Given the description of an element on the screen output the (x, y) to click on. 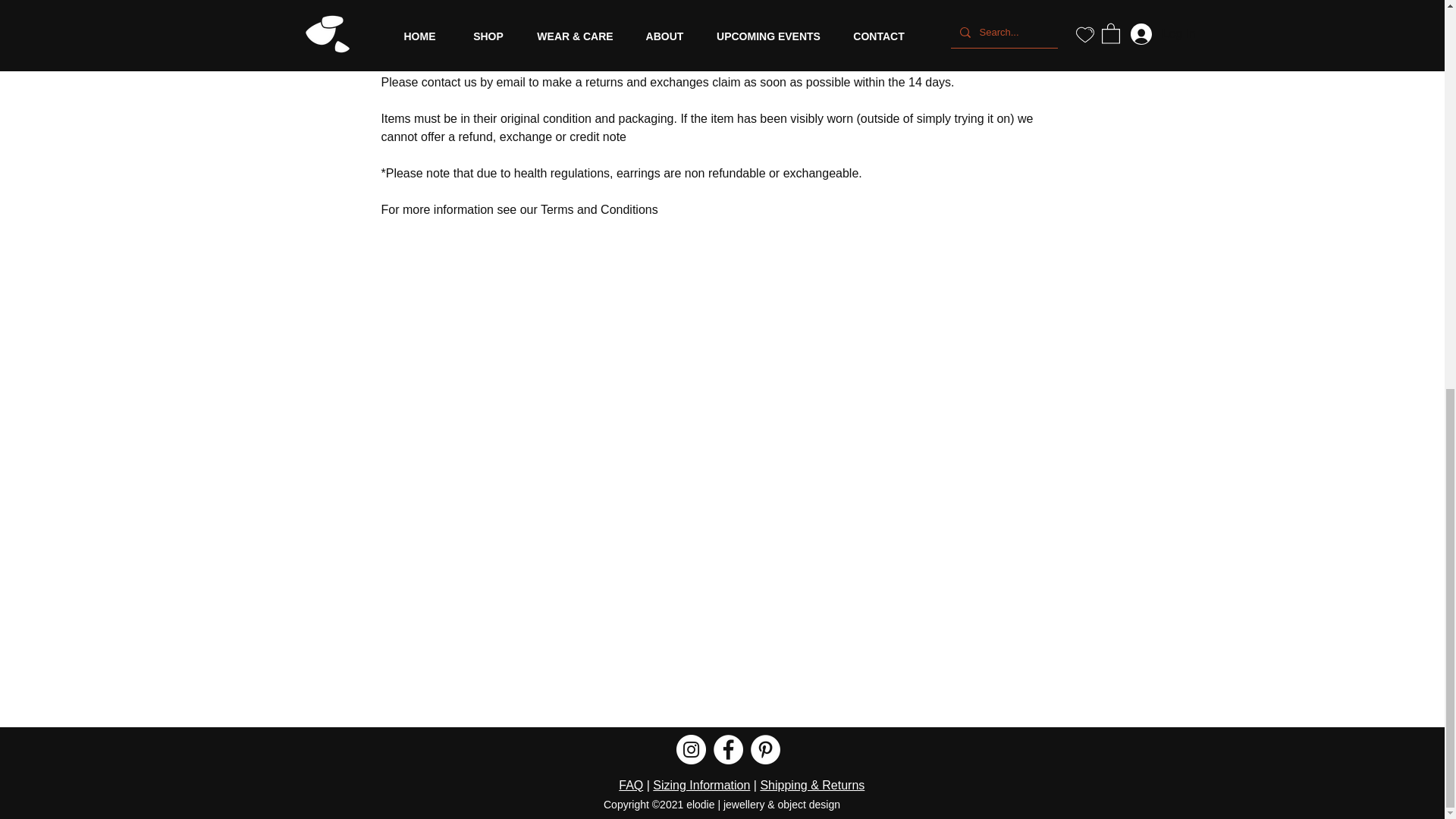
Sizing Information (700, 784)
Use right and left arrows to navigate between tabs (603, 18)
FAQ (630, 784)
Use right and left arrows to navigate between tabs (462, 18)
Use right and left arrows to navigate between tabs (724, 18)
